Given the description of an element on the screen output the (x, y) to click on. 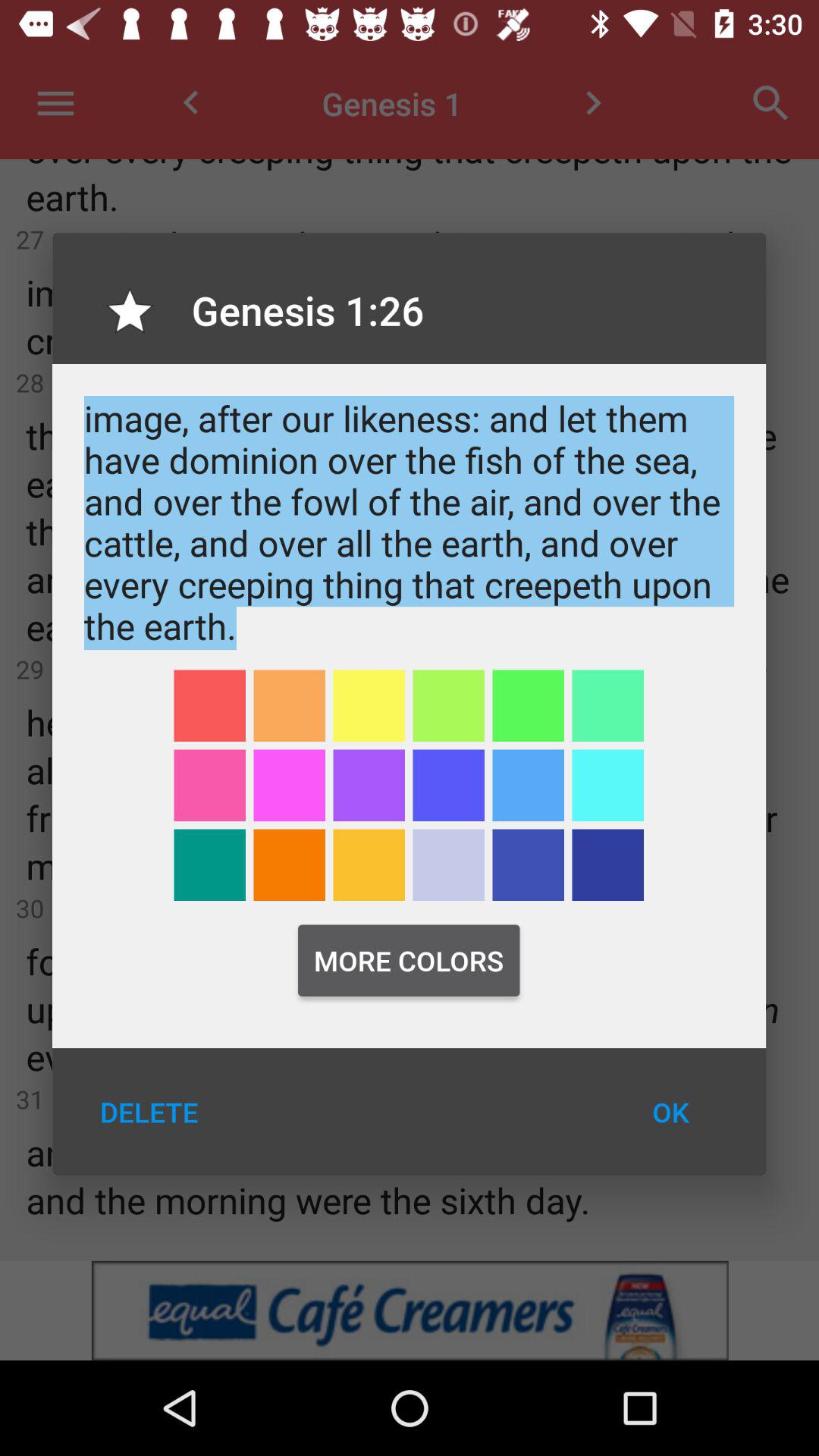
select color blue (607, 785)
